Given the description of an element on the screen output the (x, y) to click on. 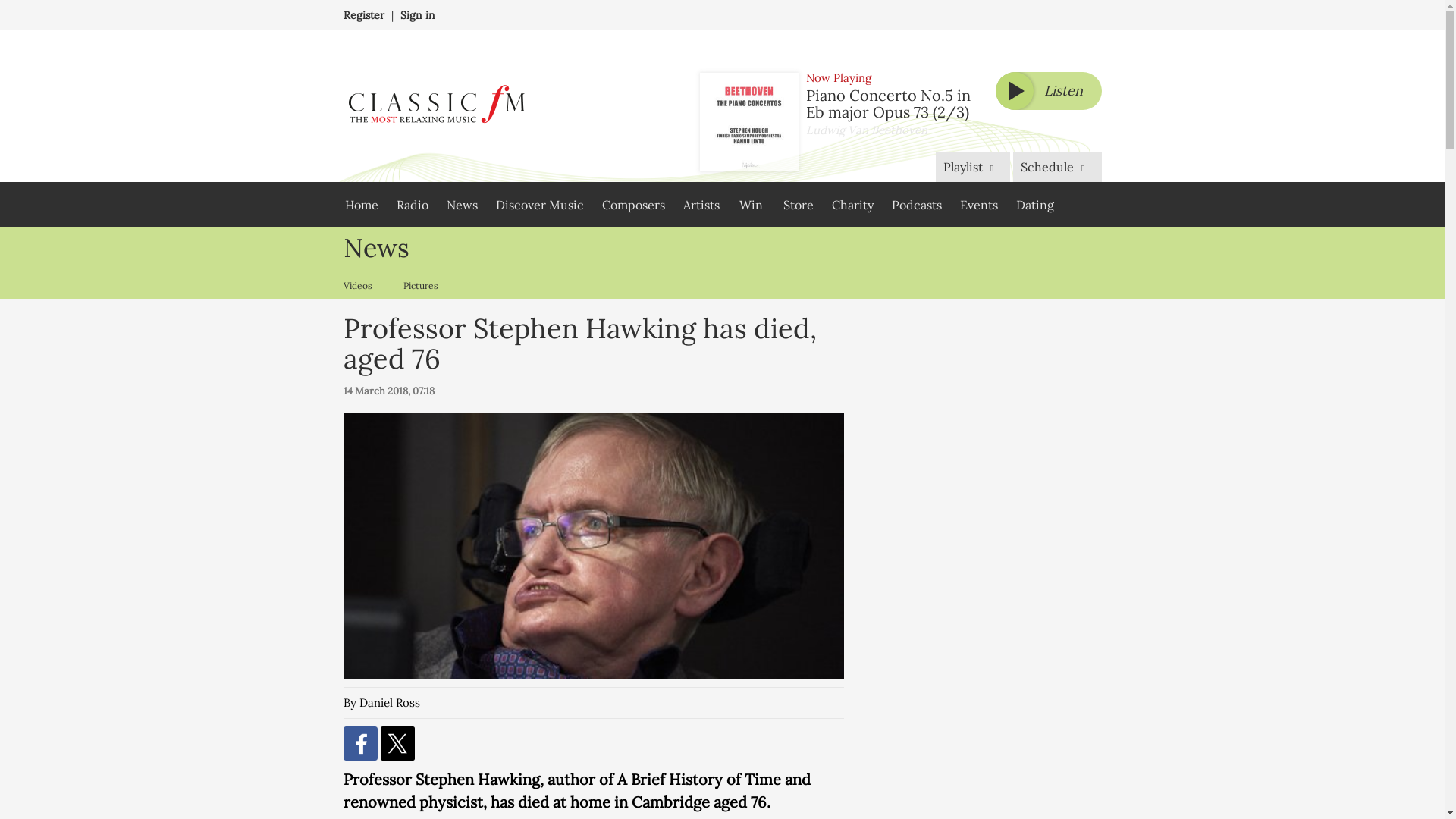
Win (750, 204)
Charity (852, 204)
Events (978, 204)
Podcasts (916, 204)
Artists (700, 204)
Listen (1047, 90)
Videos (360, 285)
Schedule (1056, 166)
Radio (411, 204)
Sign in (417, 15)
Classic FM (435, 106)
Discover Music (539, 204)
Register (363, 15)
Composers (633, 204)
Store (797, 204)
